Given the description of an element on the screen output the (x, y) to click on. 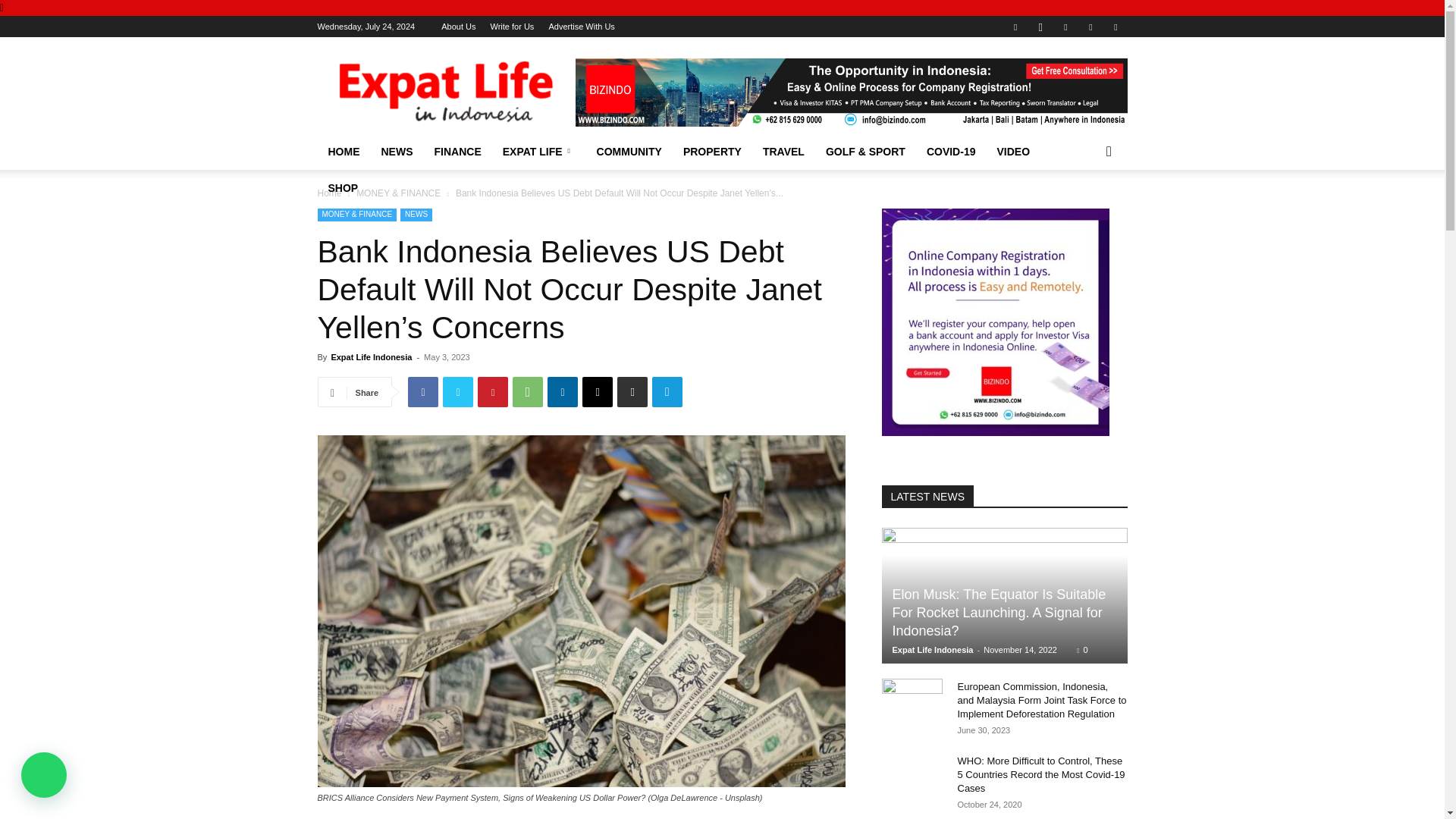
Linkedin (1065, 25)
Advertise With Us (581, 26)
Youtube (1114, 25)
Twitter (1090, 25)
HOME (343, 151)
Write for Us (511, 26)
About Us (458, 26)
Instagram (1040, 25)
Facebook (1015, 25)
